Given the description of an element on the screen output the (x, y) to click on. 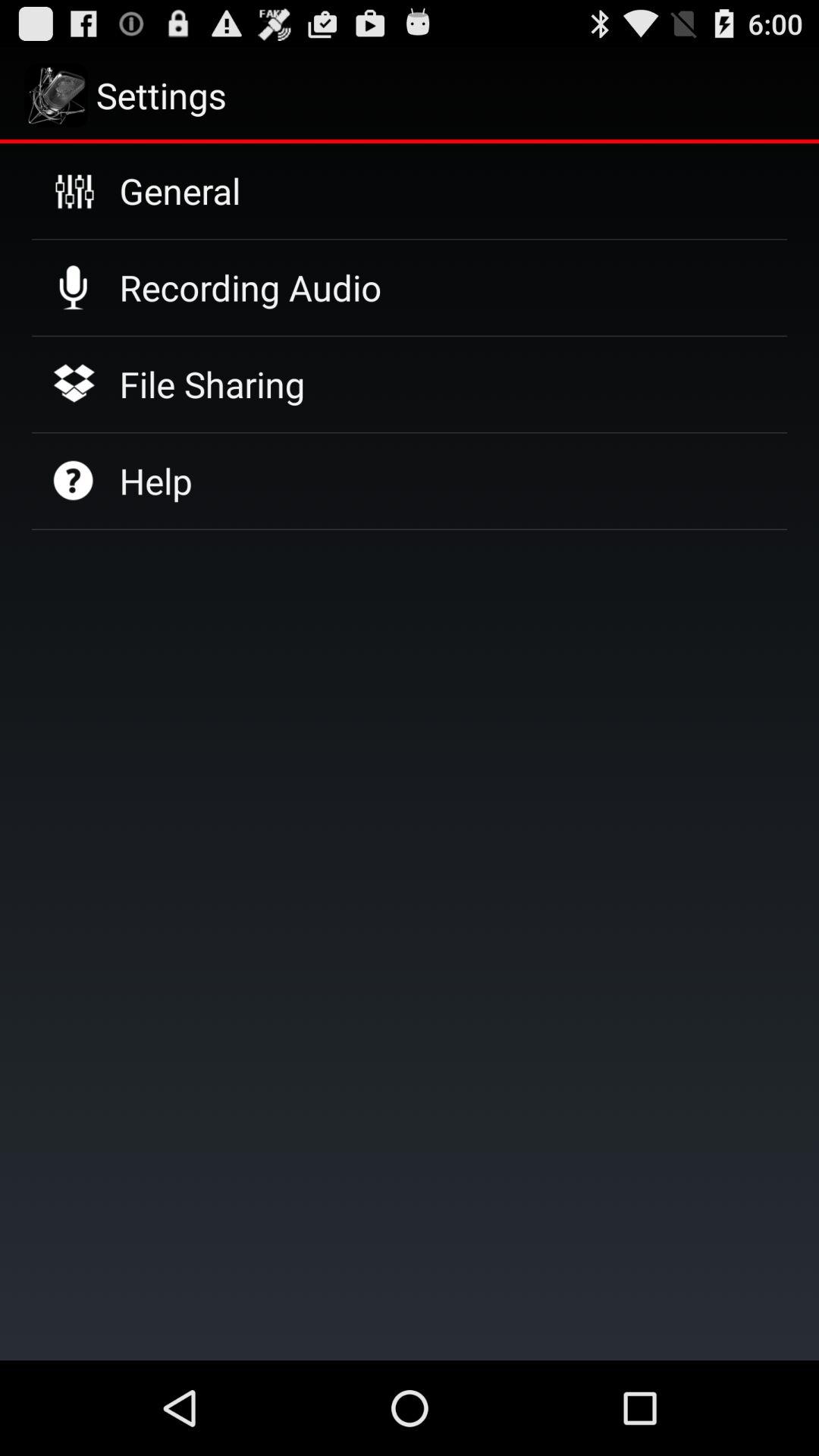
click help app (155, 480)
